Given the description of an element on the screen output the (x, y) to click on. 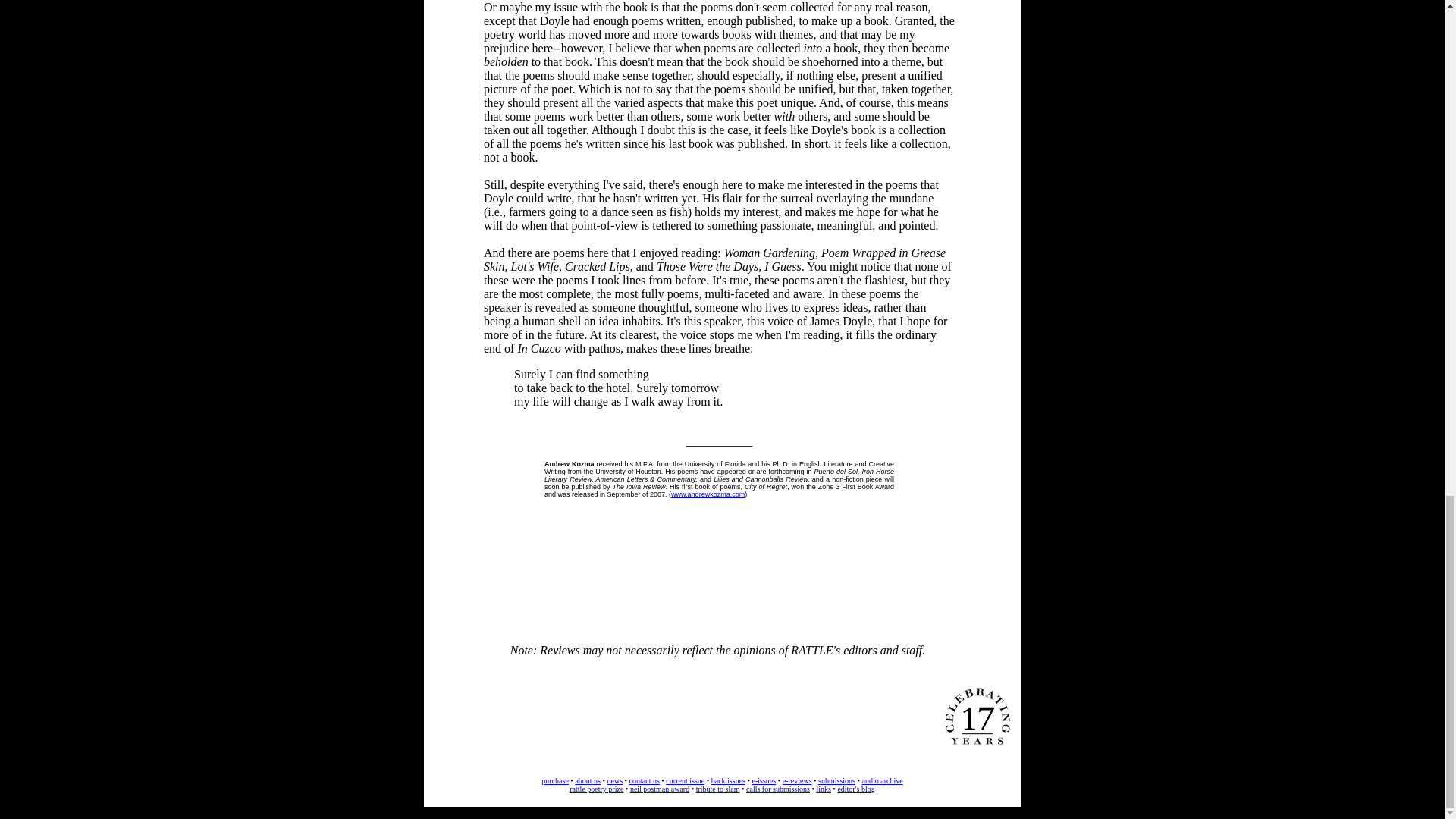
purchase (555, 780)
editor's blog (856, 788)
contact us (643, 780)
current issue (684, 780)
news (615, 780)
calls for submissions (777, 788)
www.andrewkozma.com (707, 493)
e-issues (764, 780)
audio archive (881, 780)
e-reviews (797, 780)
rattle poetry prize (596, 788)
back issues (728, 780)
links (822, 788)
neil postman award (659, 788)
submissions (837, 780)
